Given the description of an element on the screen output the (x, y) to click on. 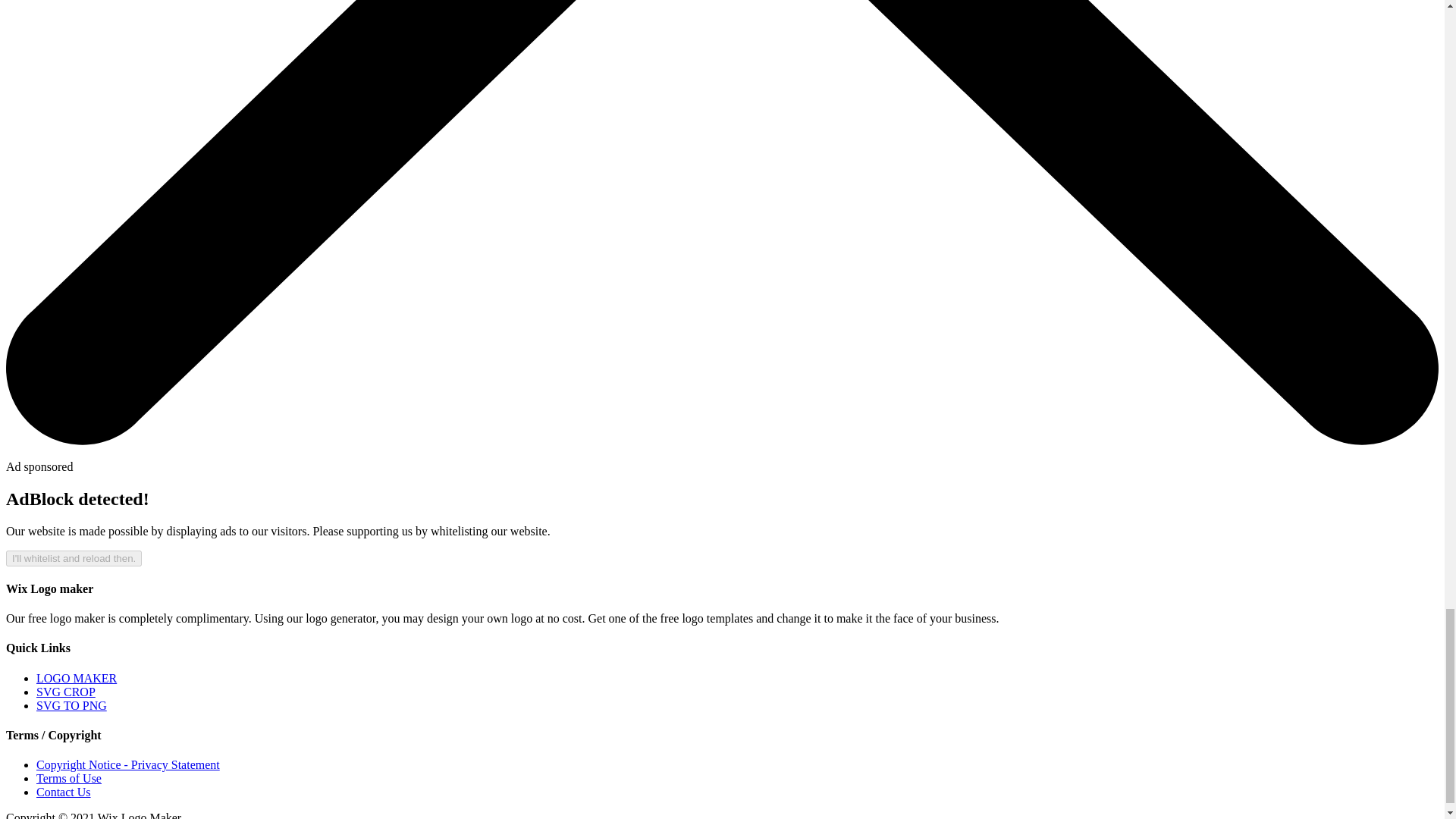
LOGO MAKER (76, 677)
SVG CROP (66, 691)
SVG TO PNG (71, 705)
Contact Us (63, 791)
I'll whitelist and reload then. (73, 558)
Terms of Use (68, 778)
Copyright Notice - Privacy Statement (127, 764)
